Given the description of an element on the screen output the (x, y) to click on. 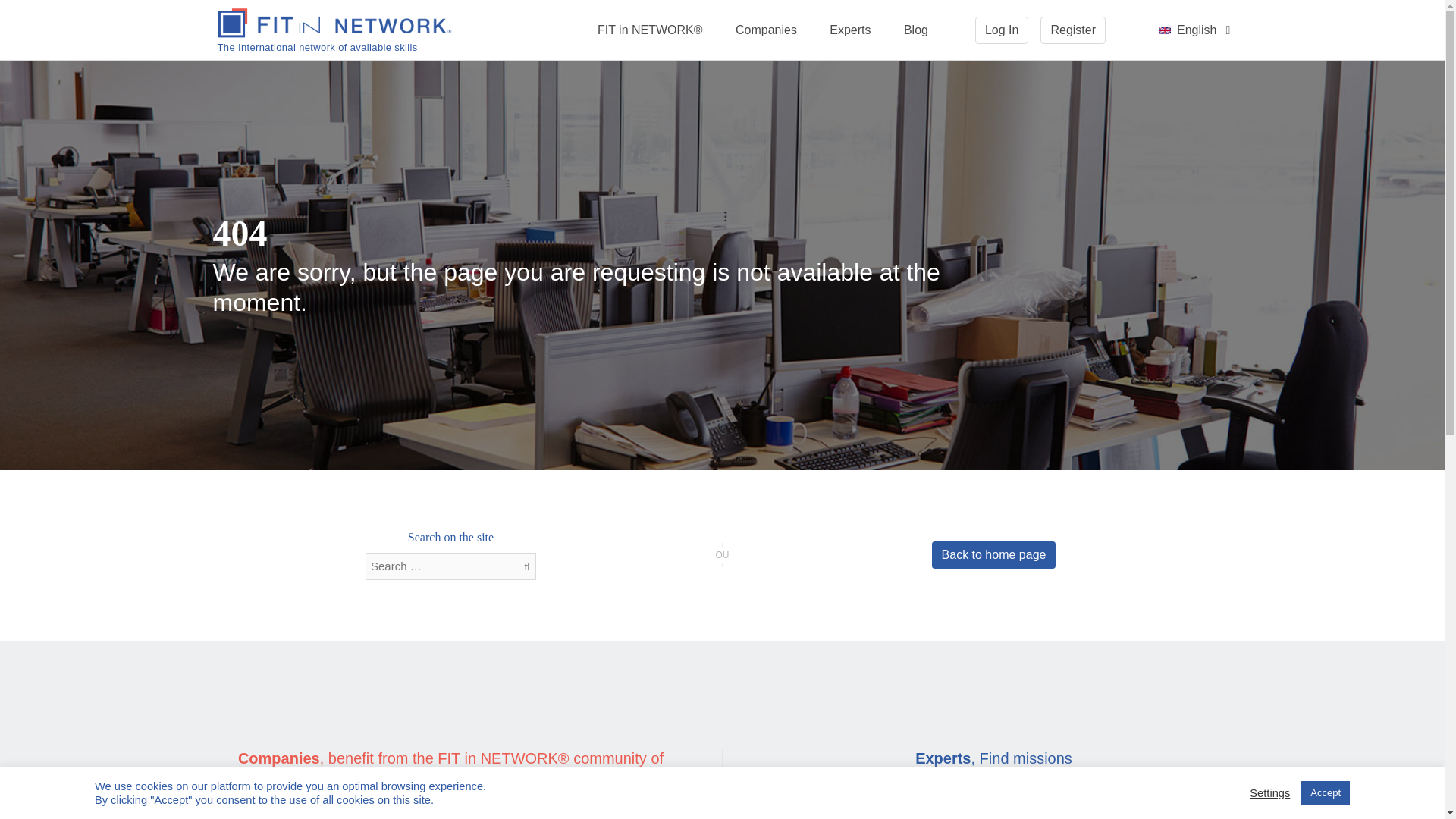
English (1194, 30)
Search (21, 7)
Companies (766, 30)
English (1164, 30)
The International network of available skills (333, 30)
Register (1073, 30)
Log In (1001, 30)
Back to home page (994, 554)
Experts (850, 30)
